Given the description of an element on the screen output the (x, y) to click on. 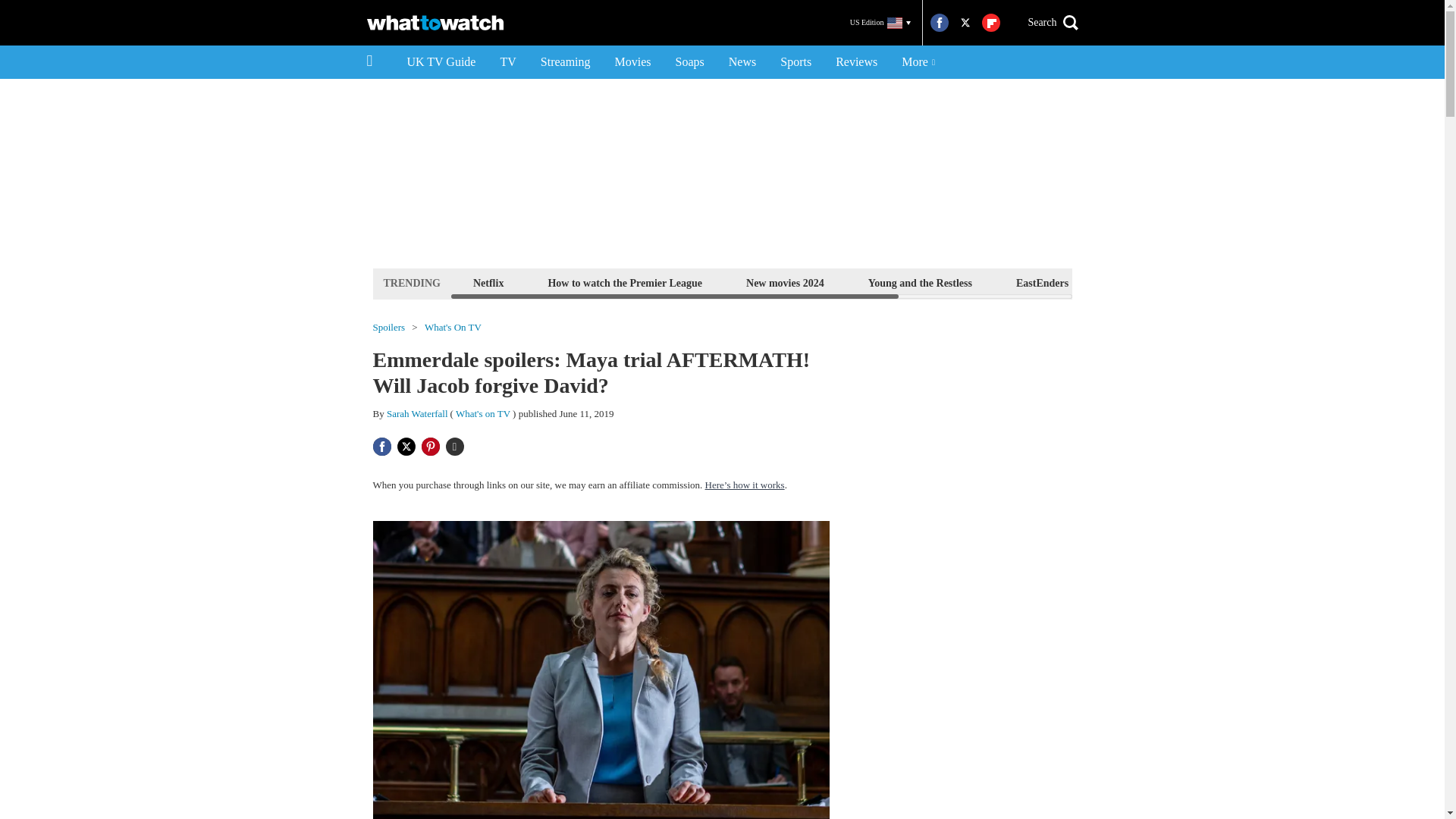
EastEnders (1042, 282)
What's On TV (453, 327)
New movies 2024 (785, 282)
Young and the Restless (919, 282)
Spoilers (389, 327)
Coronation Street (1249, 282)
How to watch the Premier League (624, 282)
Emmerdale (1138, 282)
TV (507, 61)
Reviews (856, 61)
